Given the description of an element on the screen output the (x, y) to click on. 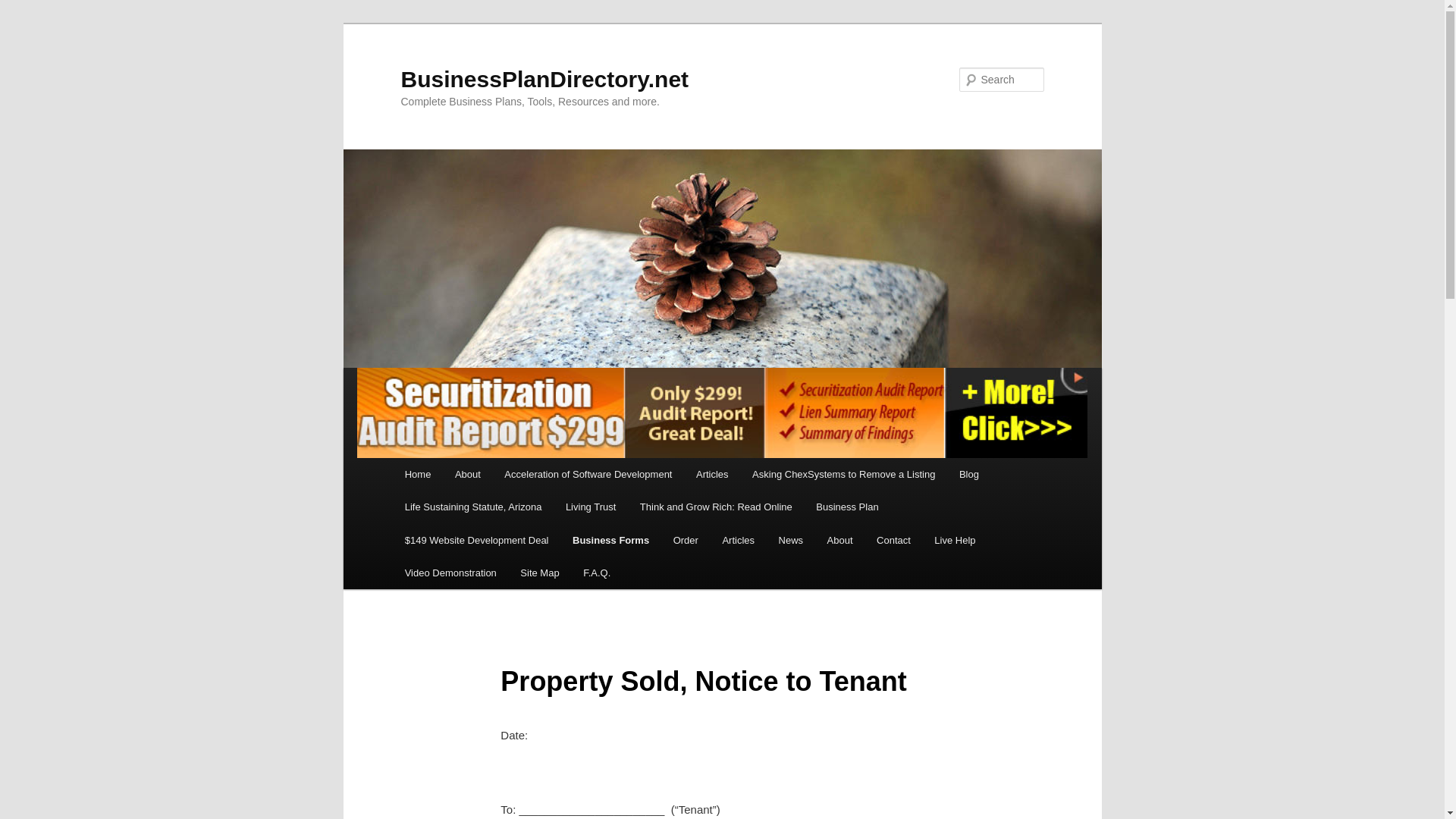
Search (24, 8)
About (467, 473)
Business Plan (846, 506)
Blog (969, 473)
Asking ChexSystems to Remove a Listing (843, 473)
Home (417, 473)
Life Sustaining Statute, Arizona (473, 506)
BusinessPlanDirectory.net (544, 78)
Articles (711, 473)
